Given the description of an element on the screen output the (x, y) to click on. 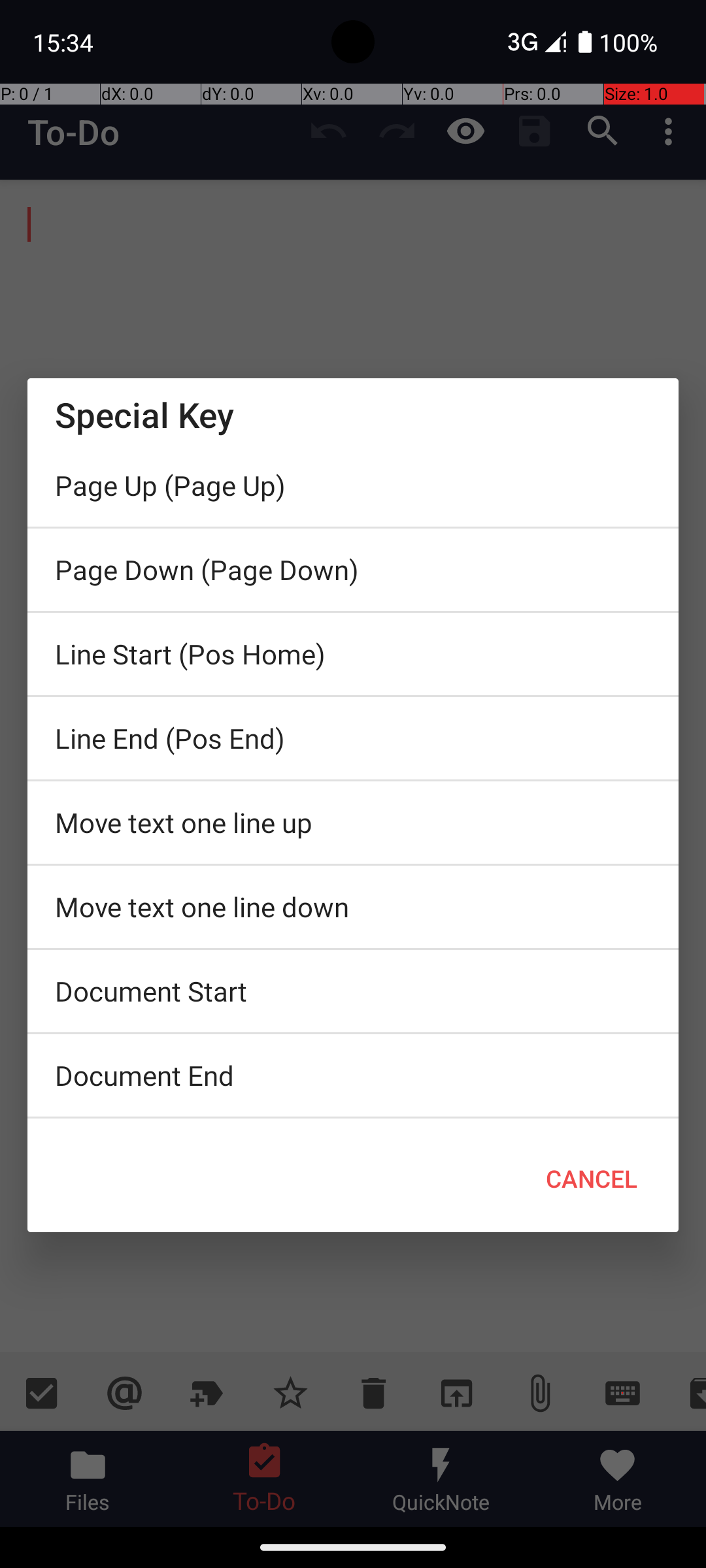
Page Up (Page Up) Element type: android.widget.TextView (352, 485)
Page Down (Page Down) Element type: android.widget.TextView (352, 569)
Line Start (Pos Home) Element type: android.widget.TextView (352, 653)
Line End (Pos End) Element type: android.widget.TextView (352, 738)
Move text one line up Element type: android.widget.TextView (352, 822)
Move text one line down Element type: android.widget.TextView (352, 906)
Document Start Element type: android.widget.TextView (352, 990)
Document End Element type: android.widget.TextView (352, 1075)
Select all (Ctrl+A) Element type: android.widget.TextView (352, 1121)
